Given the description of an element on the screen output the (x, y) to click on. 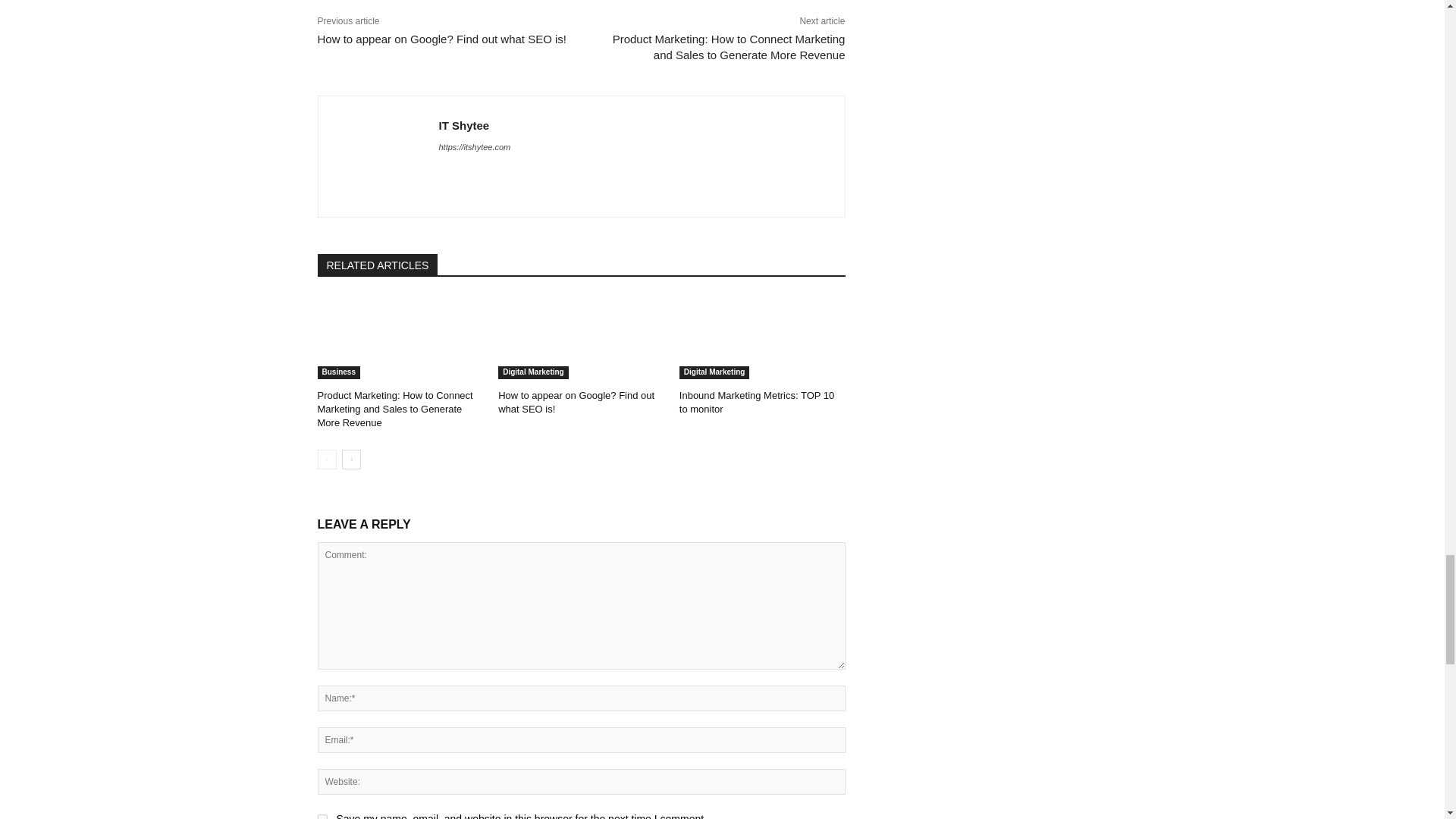
yes (321, 816)
